Given the description of an element on the screen output the (x, y) to click on. 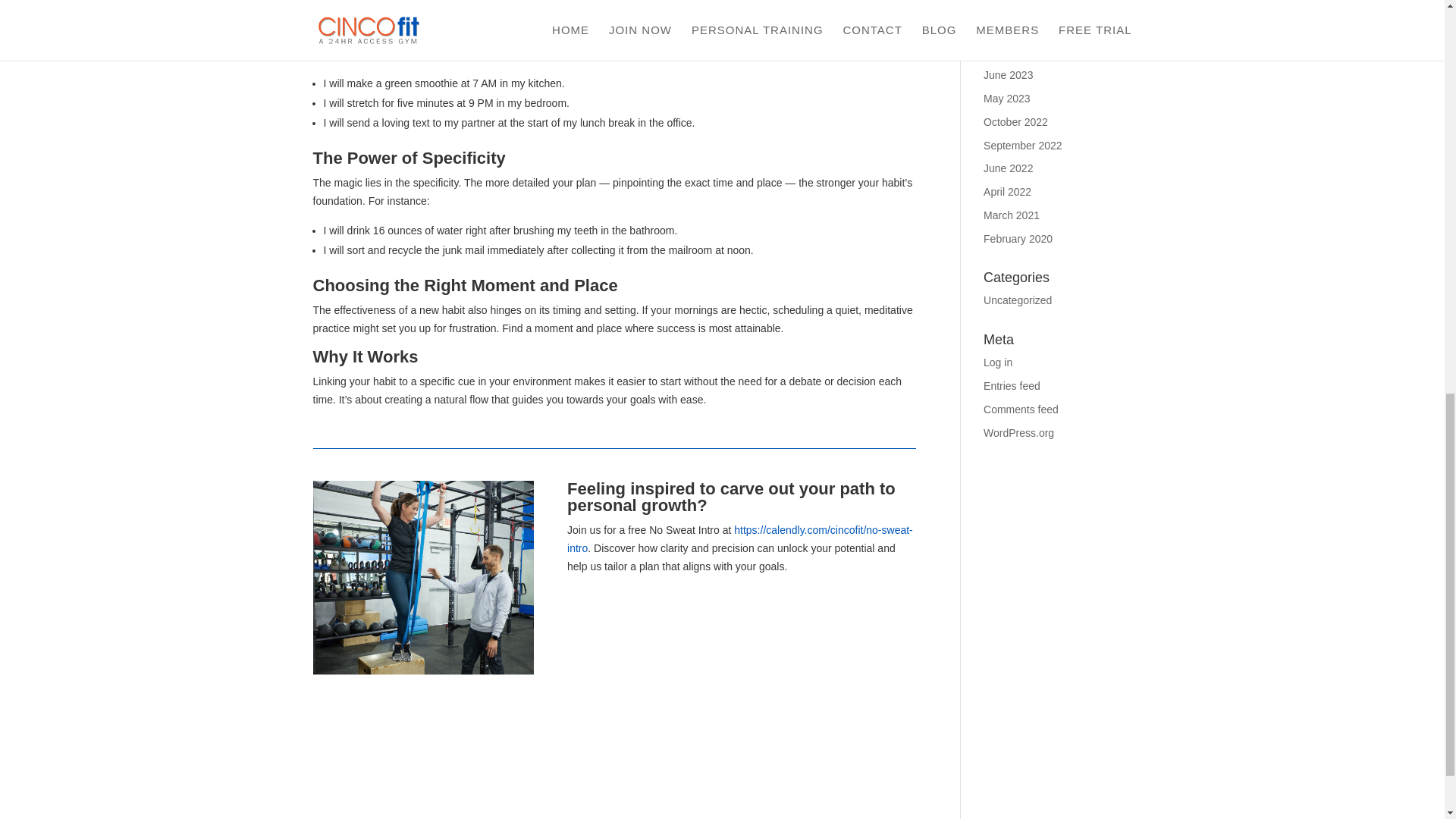
June 2023 (1008, 74)
5 (423, 590)
May 2023 (1006, 98)
July 2023 (1006, 51)
June 2022 (1008, 168)
August 2023 (1013, 28)
October 2022 (1016, 121)
September 2022 (1023, 145)
September 2023 (1023, 5)
March 2021 (1011, 215)
